Given the description of an element on the screen output the (x, y) to click on. 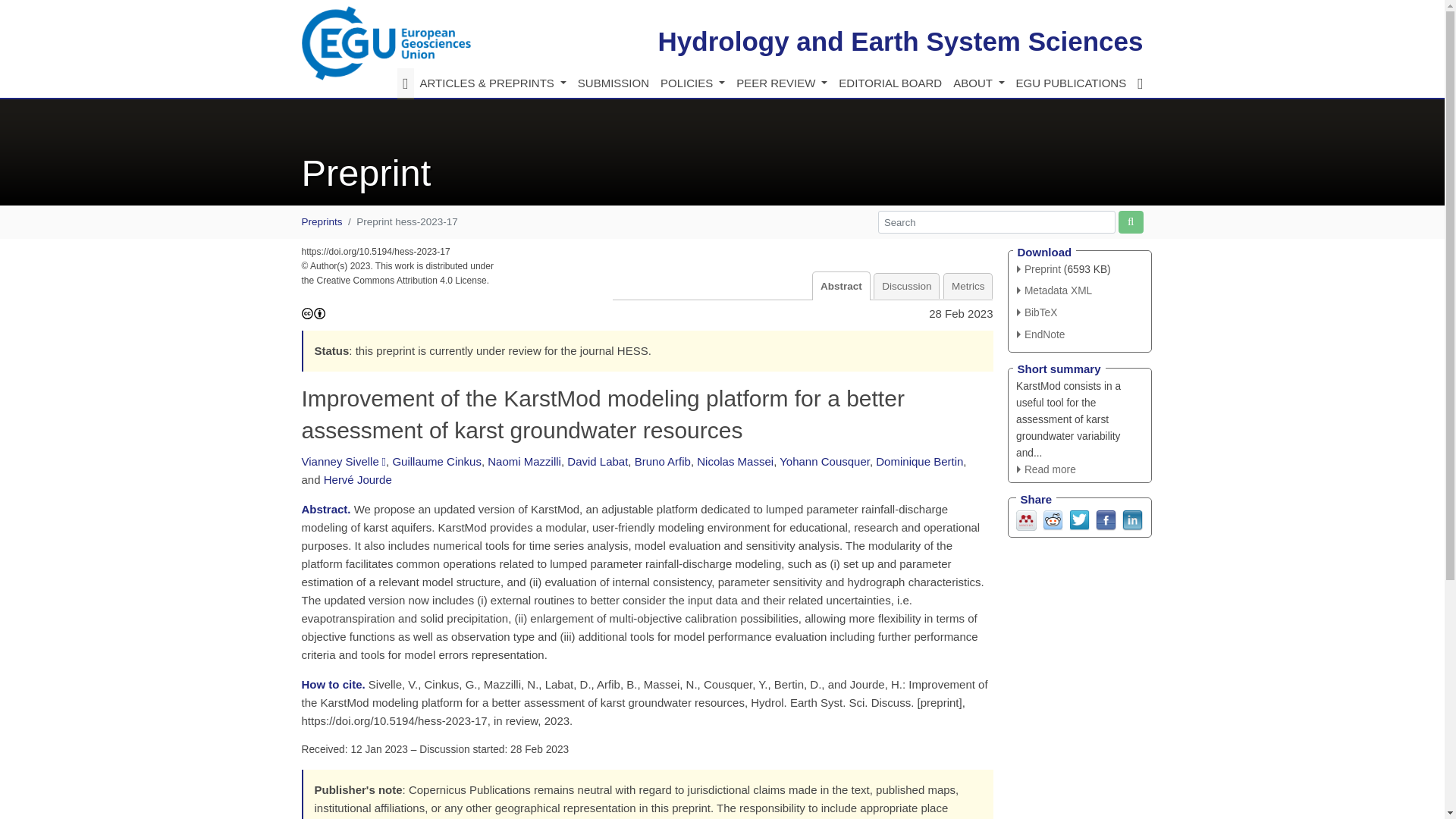
PEER REVIEW (781, 83)
POLICIES (691, 83)
Hydrology and Earth System Sciences (900, 41)
Start site search (1130, 221)
SUBMISSION (612, 83)
